Given the description of an element on the screen output the (x, y) to click on. 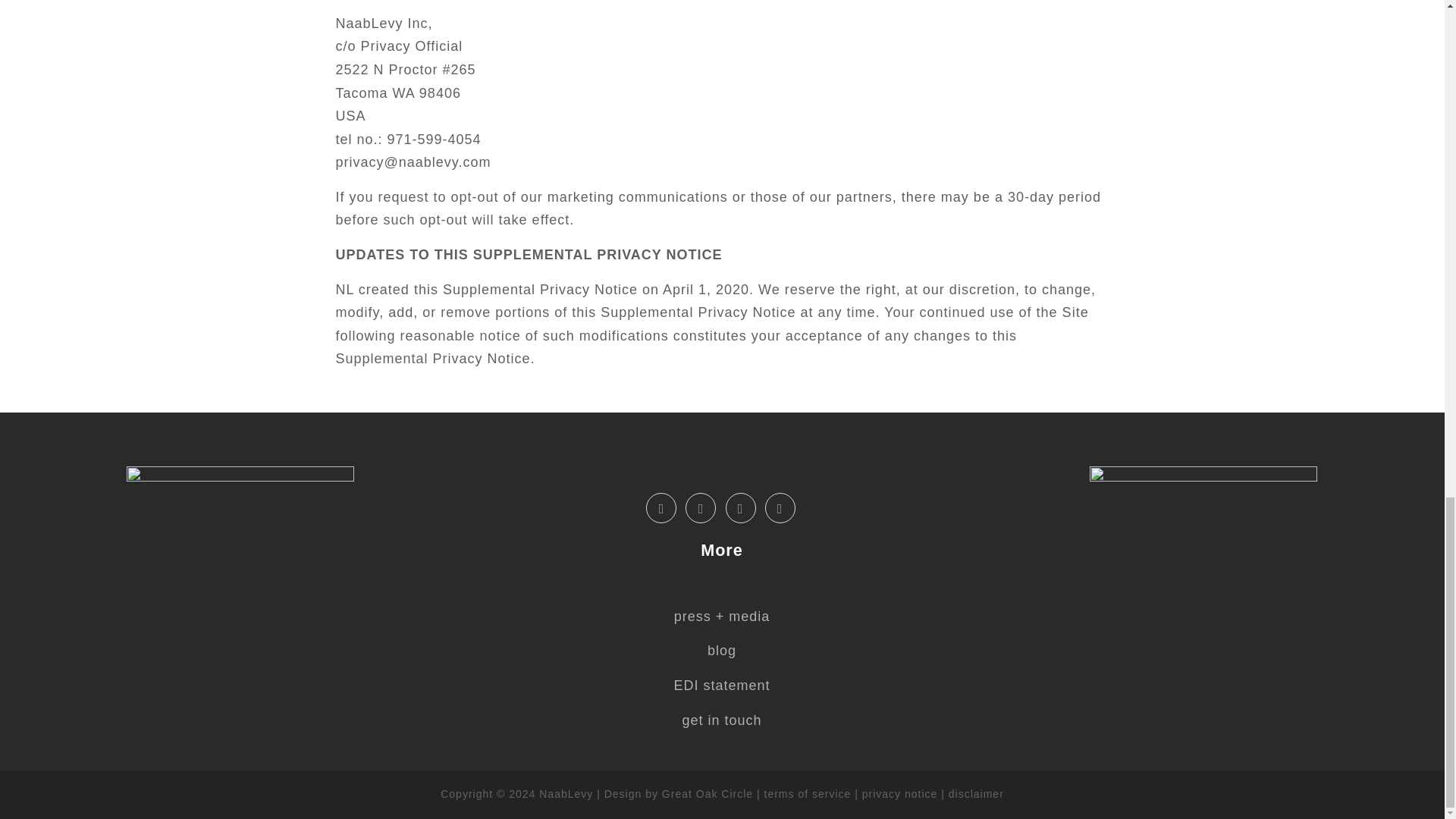
podcast (779, 508)
blog (721, 650)
EDI statement (721, 685)
Great Oak Circle (707, 793)
Facebook (661, 508)
privacy notice (899, 793)
YouTube (740, 508)
Instagram (700, 508)
get in touch (721, 720)
disclaimer (976, 793)
